Given the description of an element on the screen output the (x, y) to click on. 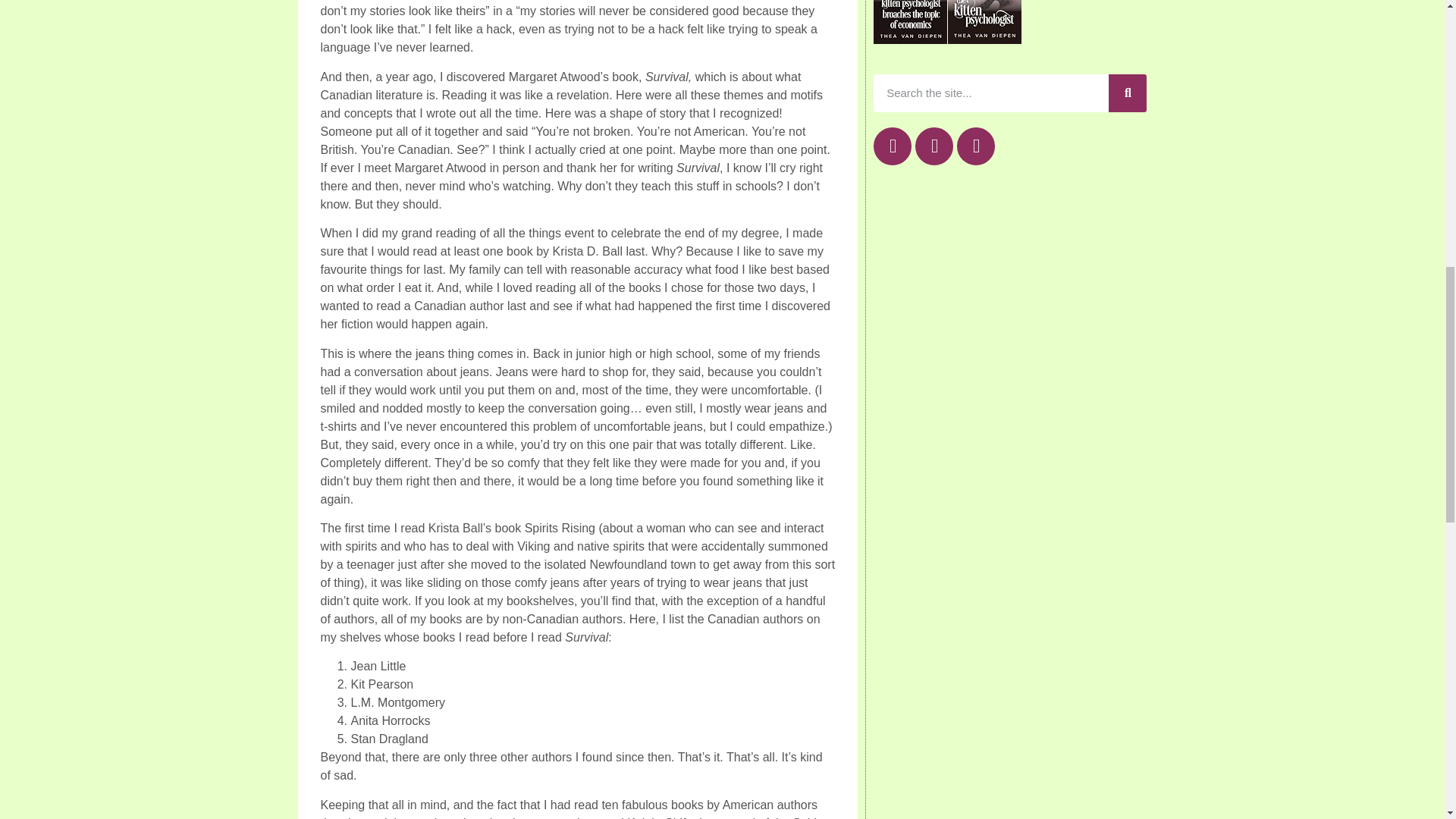
The Kitten Psychologist (984, 39)
The Kitten Psychologist Broaches the Topic of Economics (910, 39)
